Given the description of an element on the screen output the (x, y) to click on. 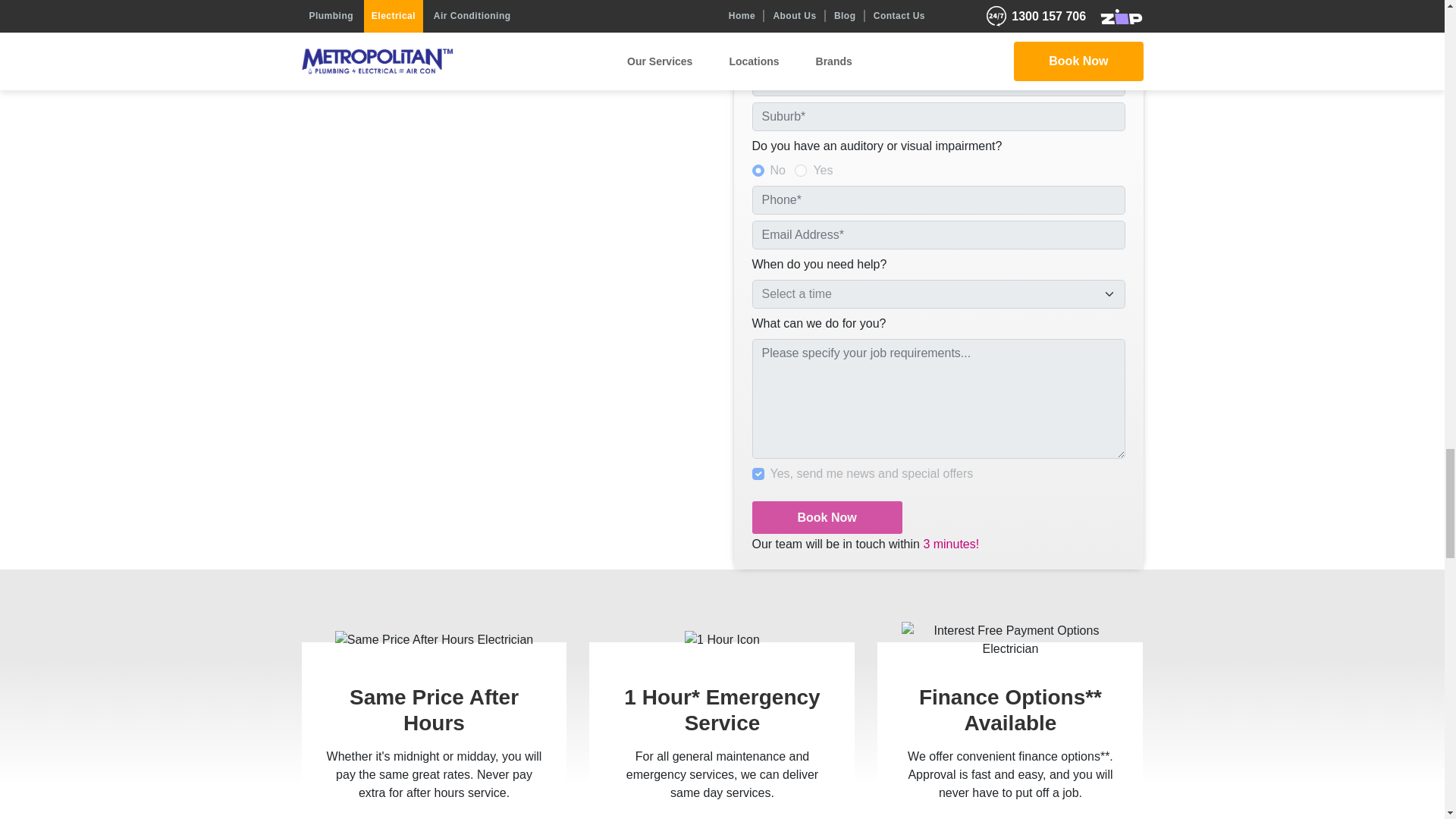
false (758, 170)
Yes (758, 473)
true (800, 170)
